Given the description of an element on the screen output the (x, y) to click on. 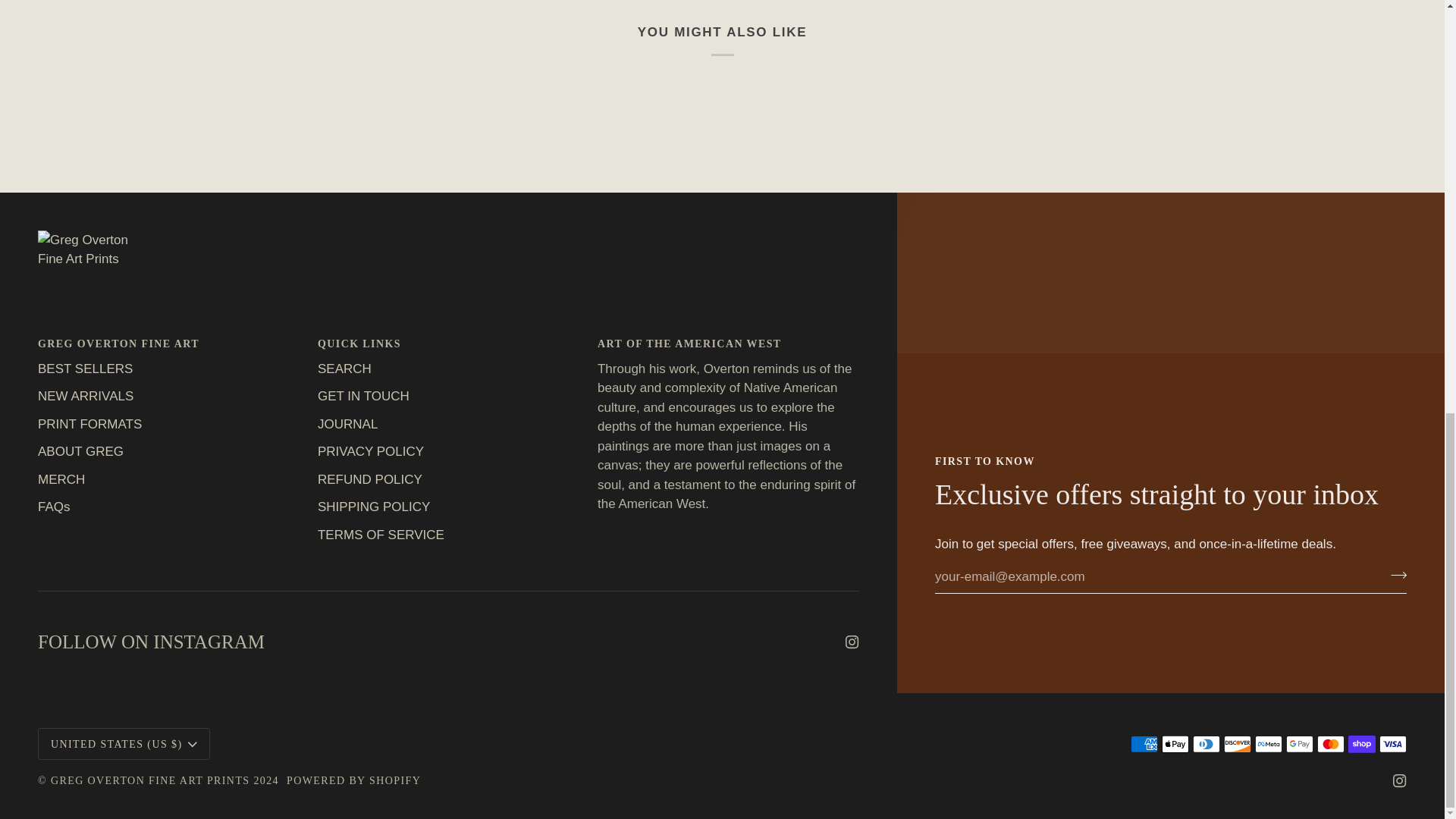
AMERICAN EXPRESS (1144, 743)
Instagram (1399, 780)
MASTERCARD (1330, 743)
VISA (1392, 743)
DISCOVER (1237, 743)
Instagram (852, 642)
META PAY (1268, 743)
APPLE PAY (1175, 743)
SHOP PAY (1361, 743)
GOOGLE PAY (1299, 743)
